Given the description of an element on the screen output the (x, y) to click on. 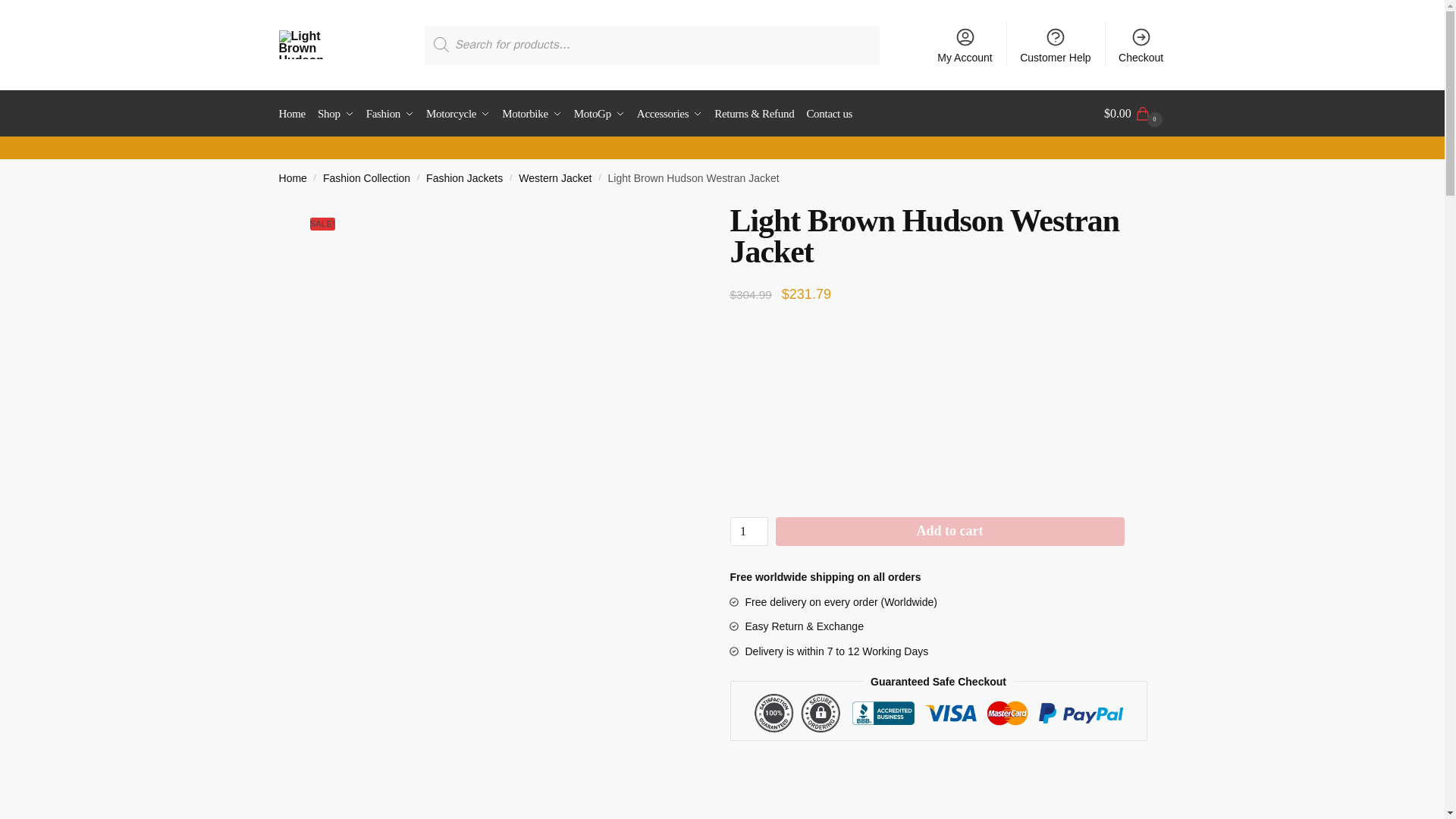
Shop (335, 113)
1 (748, 531)
My Account (964, 44)
Customer Help (1055, 44)
Fashion (389, 113)
Checkout (1141, 44)
